Given the description of an element on the screen output the (x, y) to click on. 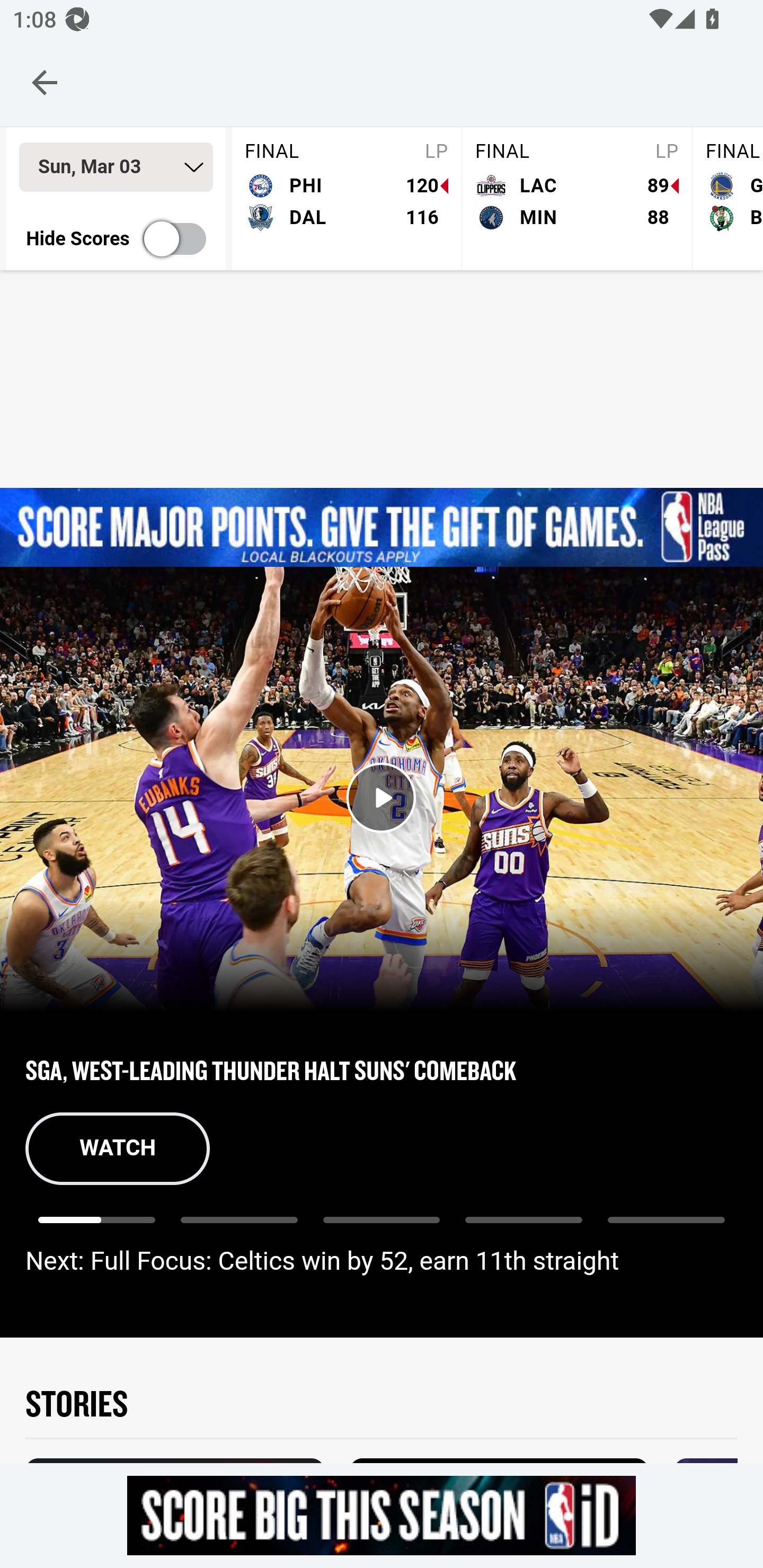
Navigate up (44, 82)
Sun, Mar 03 (115, 166)
Tune In Banner (381, 527)
Event Icon (381, 798)
SGA, WEST-LEADING THUNDER HALT SUNS' COMEBACK (381, 1069)
WATCH (118, 1148)
Link For Wemby Watch: Kia ROY race heats up & more (665, 1229)
